Given the description of an element on the screen output the (x, y) to click on. 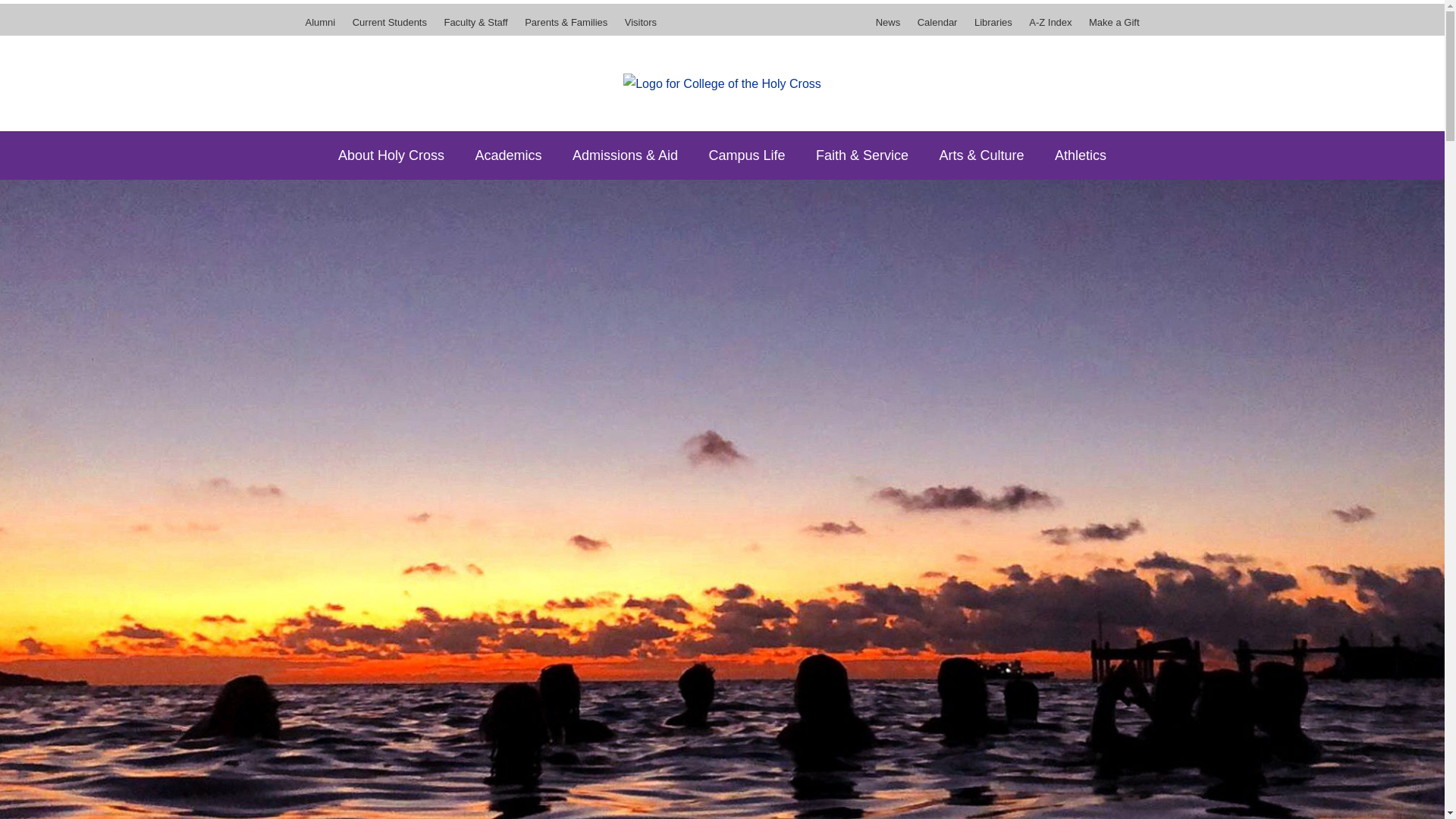
Make a Gift (1109, 27)
News (891, 27)
College of the Holy Cross Home (722, 83)
Libraries (993, 27)
Current Students (389, 27)
Academics (507, 155)
About Holy Cross (391, 155)
Calendar (937, 27)
Alumni (323, 27)
A-Z Index (1050, 27)
Visitors (636, 27)
